Given the description of an element on the screen output the (x, y) to click on. 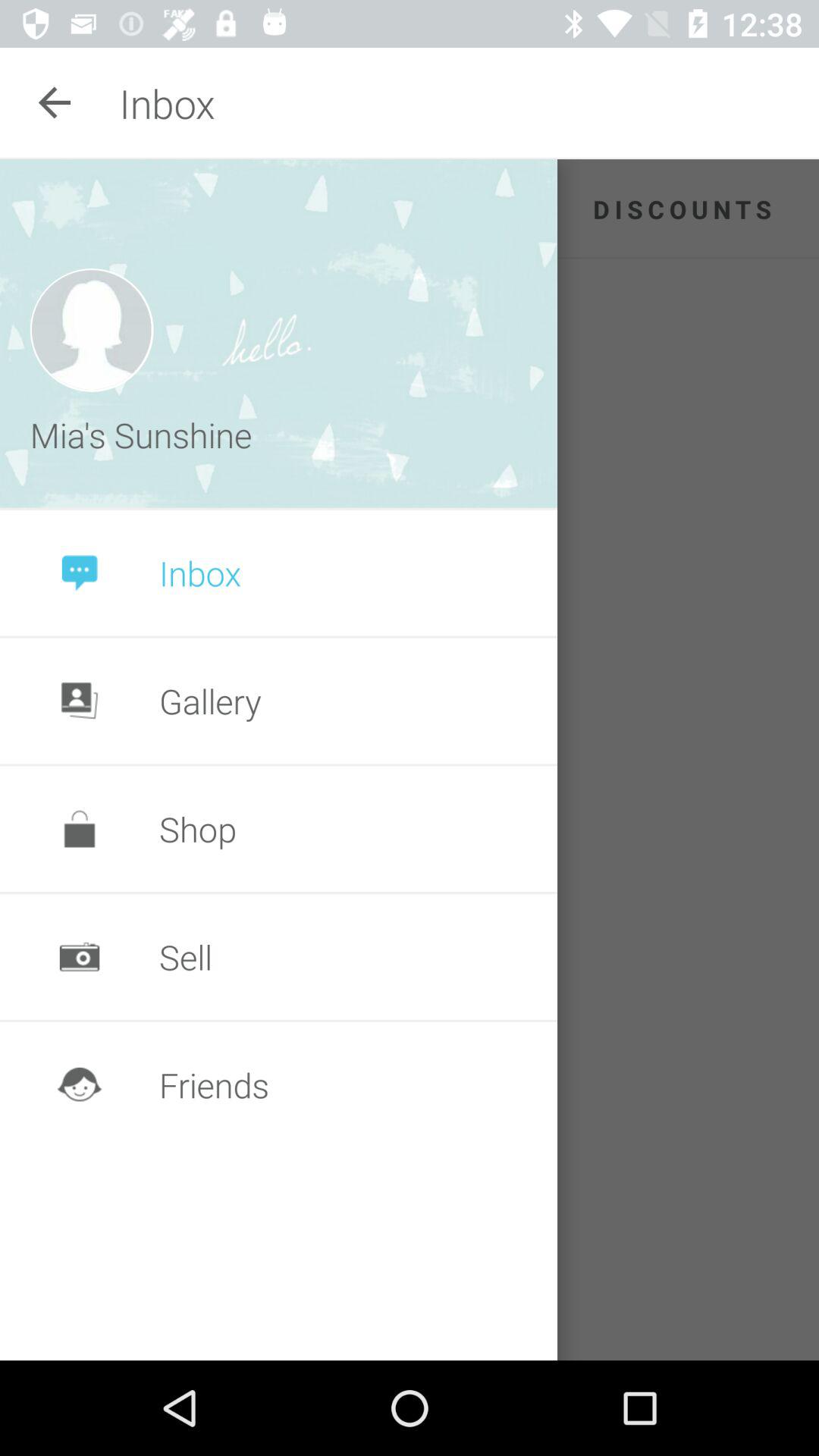
press the item next to discounts app (278, 333)
